Given the description of an element on the screen output the (x, y) to click on. 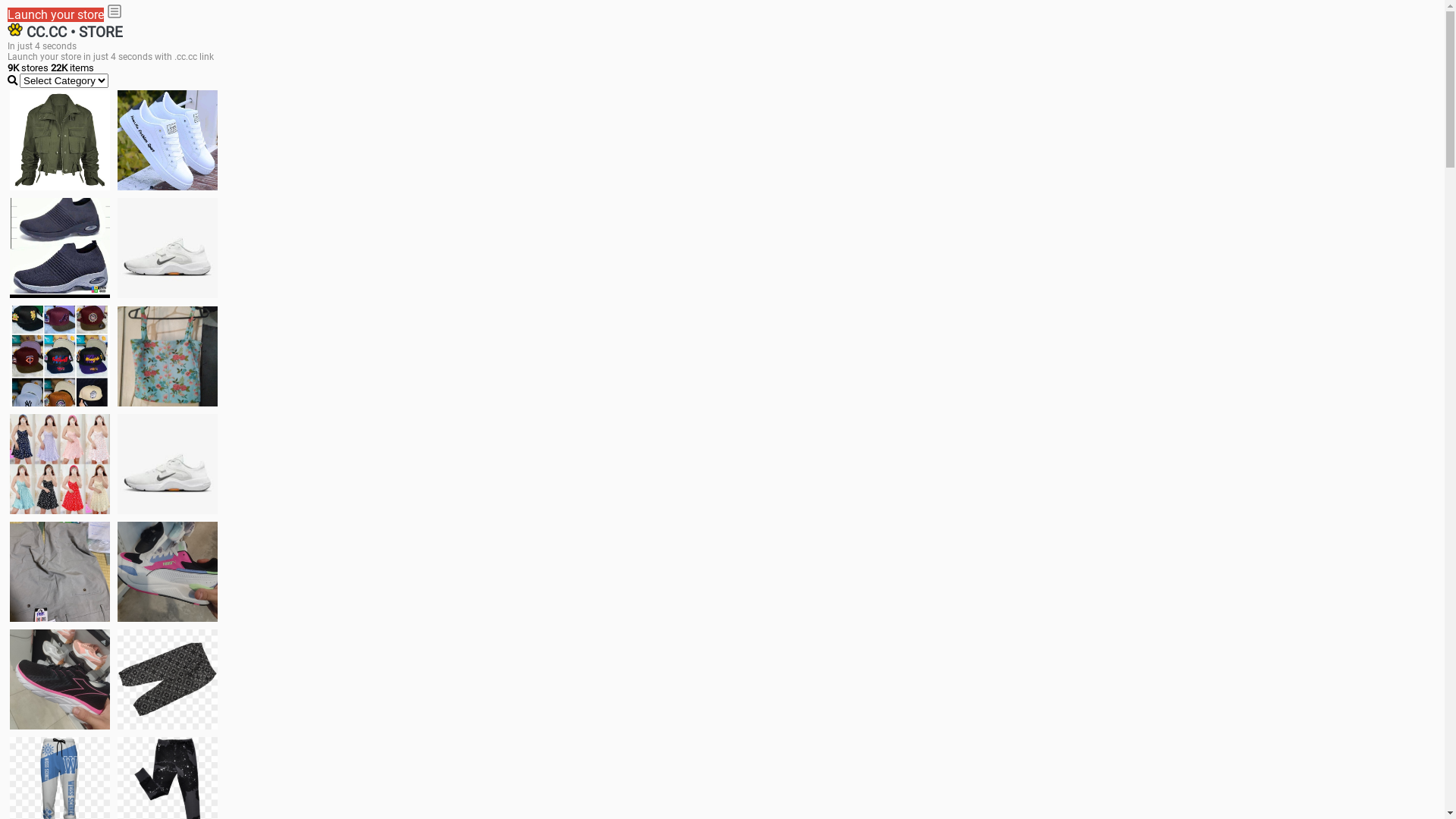
white shoes Element type: hover (167, 140)
Shoes Element type: hover (167, 464)
Short pant Element type: hover (167, 679)
Zapatillas Element type: hover (59, 679)
jacket Element type: hover (59, 140)
Dress/square nect top Element type: hover (59, 464)
Zapatillas pumas Element type: hover (167, 571)
shoes for boys Element type: hover (59, 247)
Things we need Element type: hover (59, 355)
Launch your store Element type: text (55, 14)
Shoes for boys Element type: hover (167, 247)
Ukay cloth Element type: hover (167, 356)
